Given the description of an element on the screen output the (x, y) to click on. 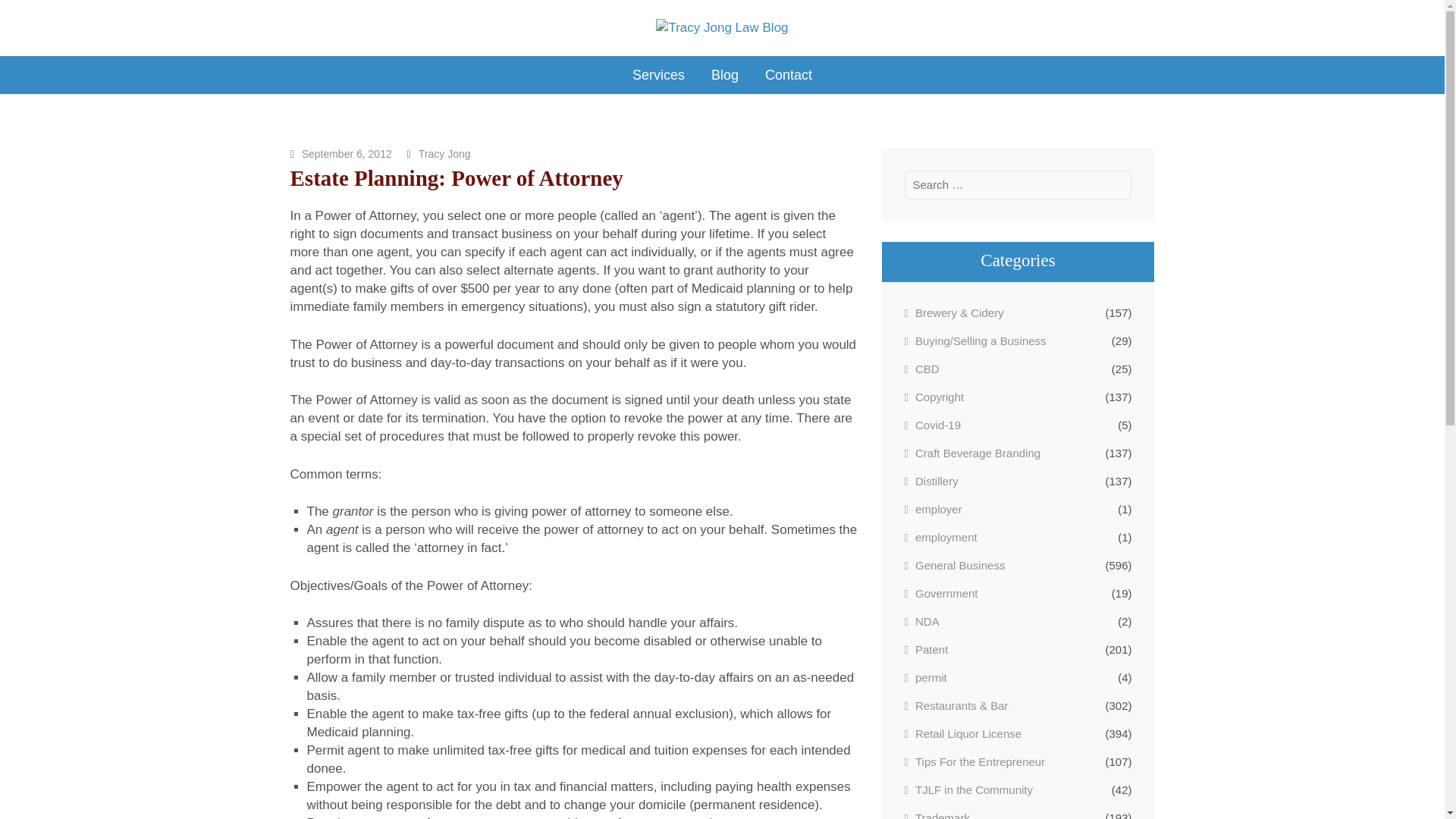
employment (940, 537)
Government (940, 593)
employer (932, 508)
Contact (789, 75)
Blog (724, 75)
TJLF in the Community (968, 789)
Copyright (933, 396)
Search (1115, 184)
Tips For the Entrepreneur (974, 761)
General Business (954, 564)
TRACY JONG LAW BLOG (437, 49)
Search (1115, 184)
CBD (921, 369)
September 6, 2012 (346, 153)
Tracy Jong (444, 153)
